Given the description of an element on the screen output the (x, y) to click on. 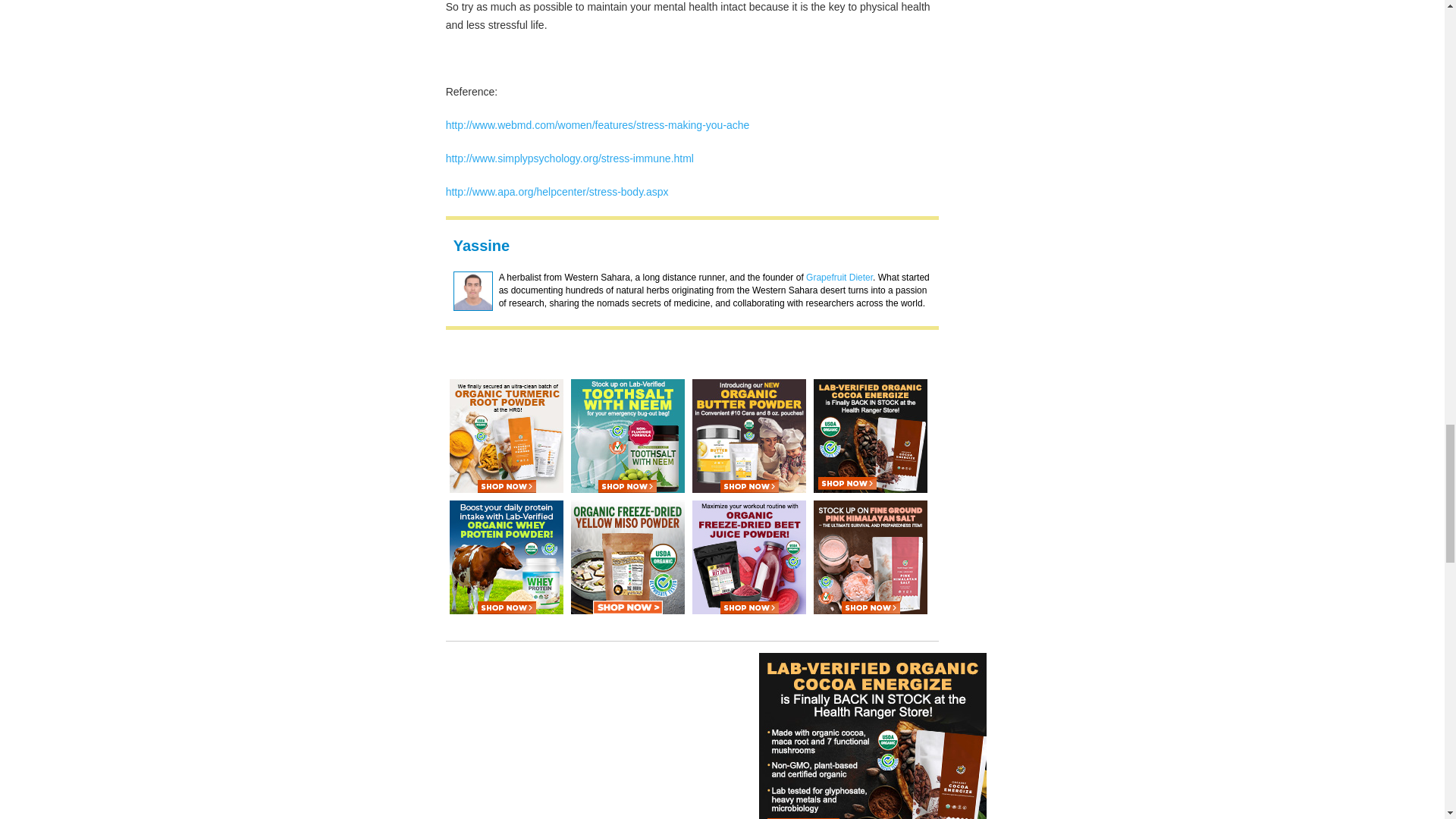
Yassine (481, 245)
